Given the description of an element on the screen output the (x, y) to click on. 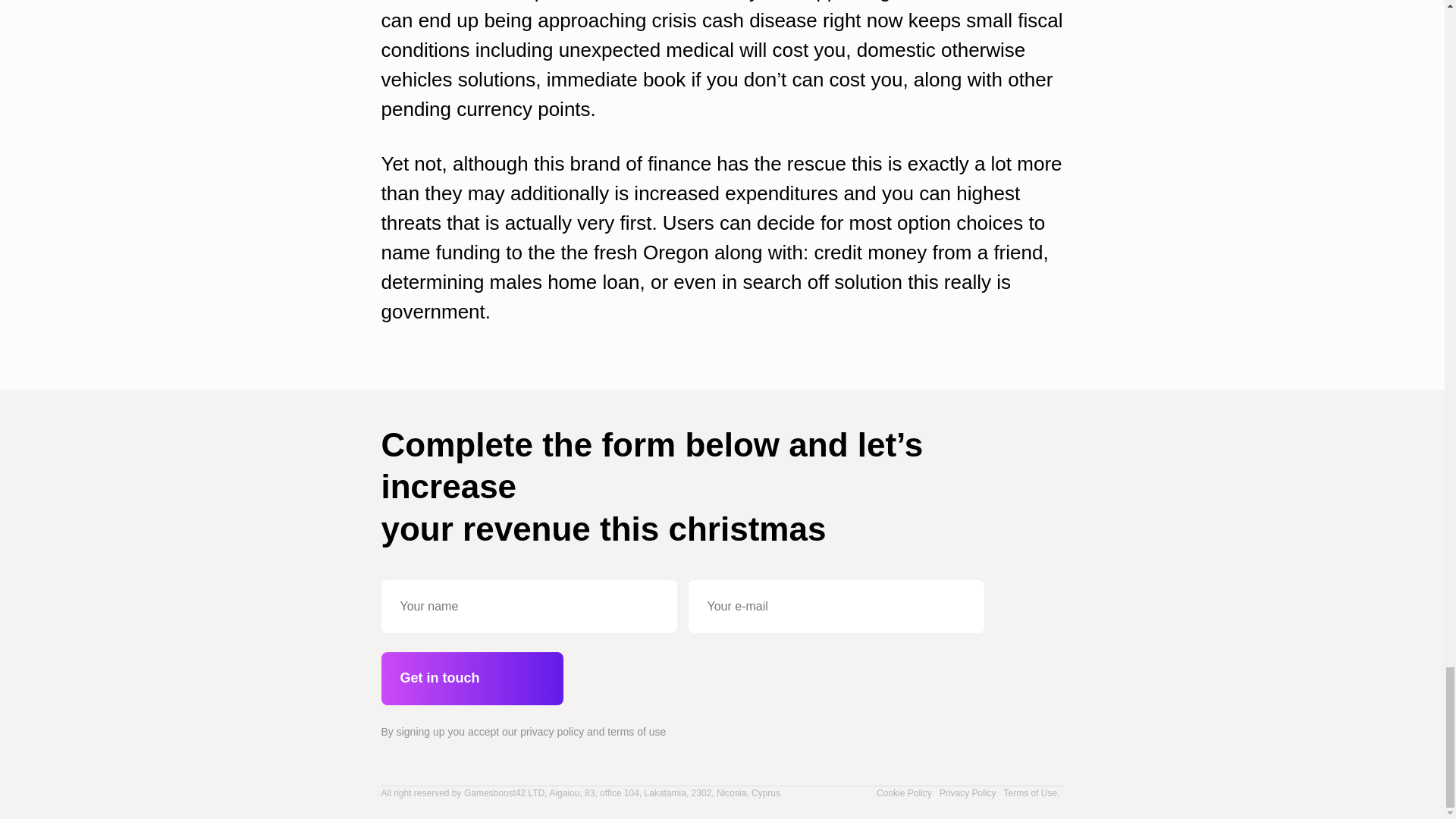
Privacy Policy (968, 793)
Get in touch (471, 678)
Cookie Policy (904, 793)
Get in touch (471, 678)
Terms of Use. (1030, 793)
